Given the description of an element on the screen output the (x, y) to click on. 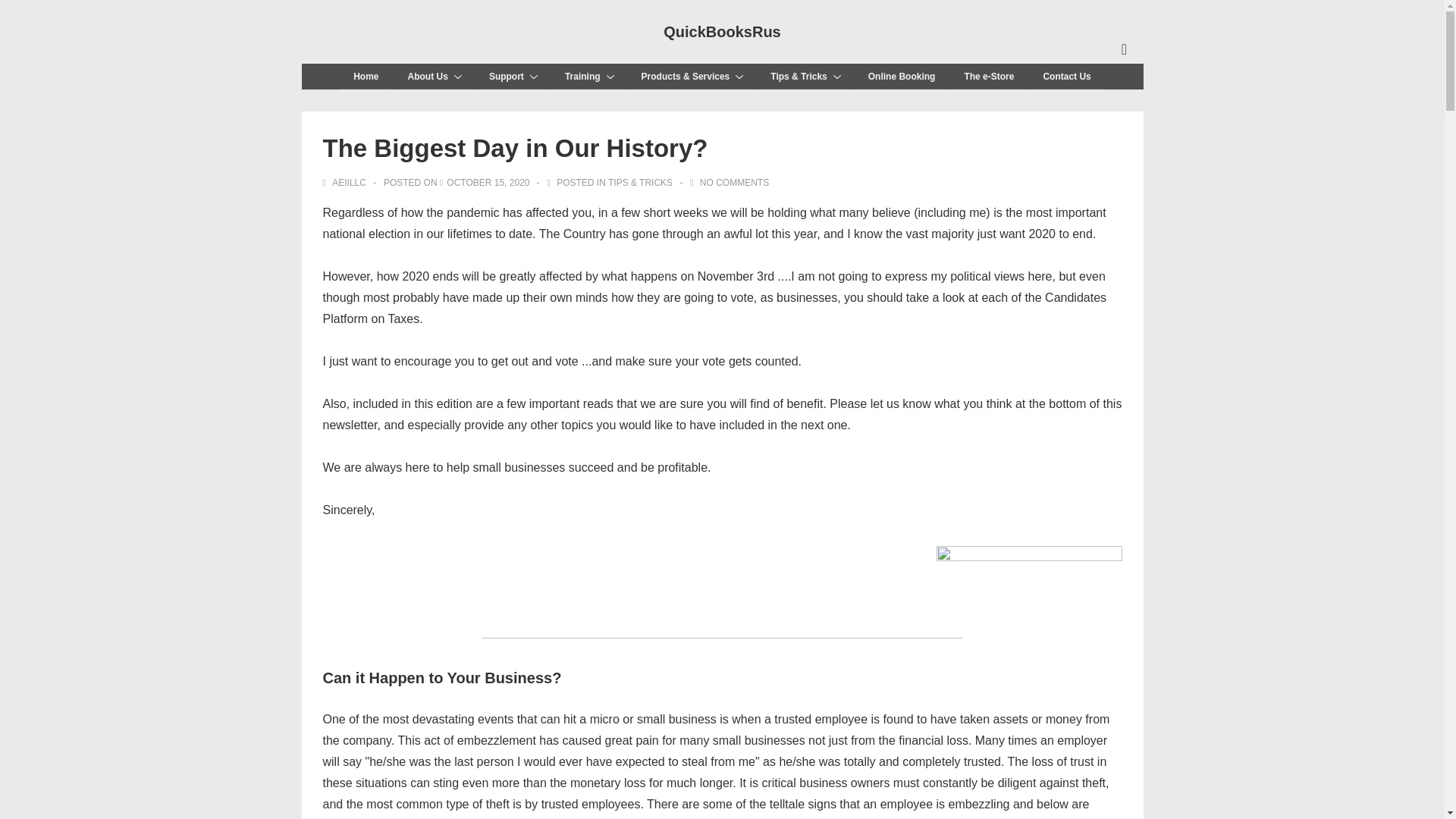
Support (513, 76)
OCTOBER 15, 2020 (487, 182)
NO COMMENTS (734, 182)
Home (365, 76)
AEIILLC (346, 182)
Online Booking (901, 76)
The e-Store (988, 76)
The Biggest Day in Our History? (487, 182)
Training (588, 76)
QuickBooksRus (721, 31)
MENU (1123, 49)
View all posts by aeiillc (346, 182)
About Us (434, 76)
Contact Us (1066, 76)
